Given the description of an element on the screen output the (x, y) to click on. 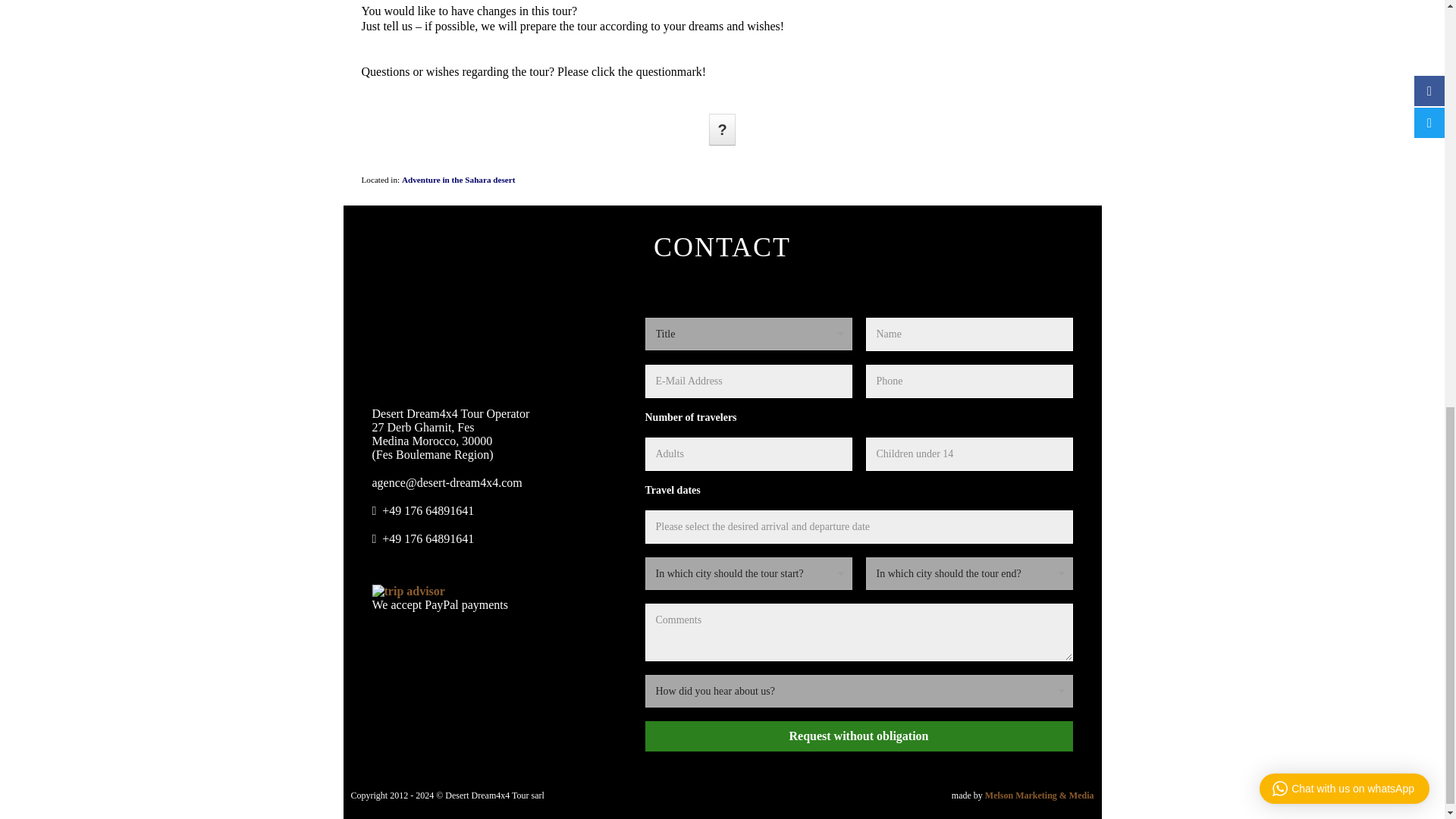
Phone (494, 510)
Whatsapp (494, 538)
professional Webdevelopment (1039, 795)
E-Mail (494, 482)
